Given the description of an element on the screen output the (x, y) to click on. 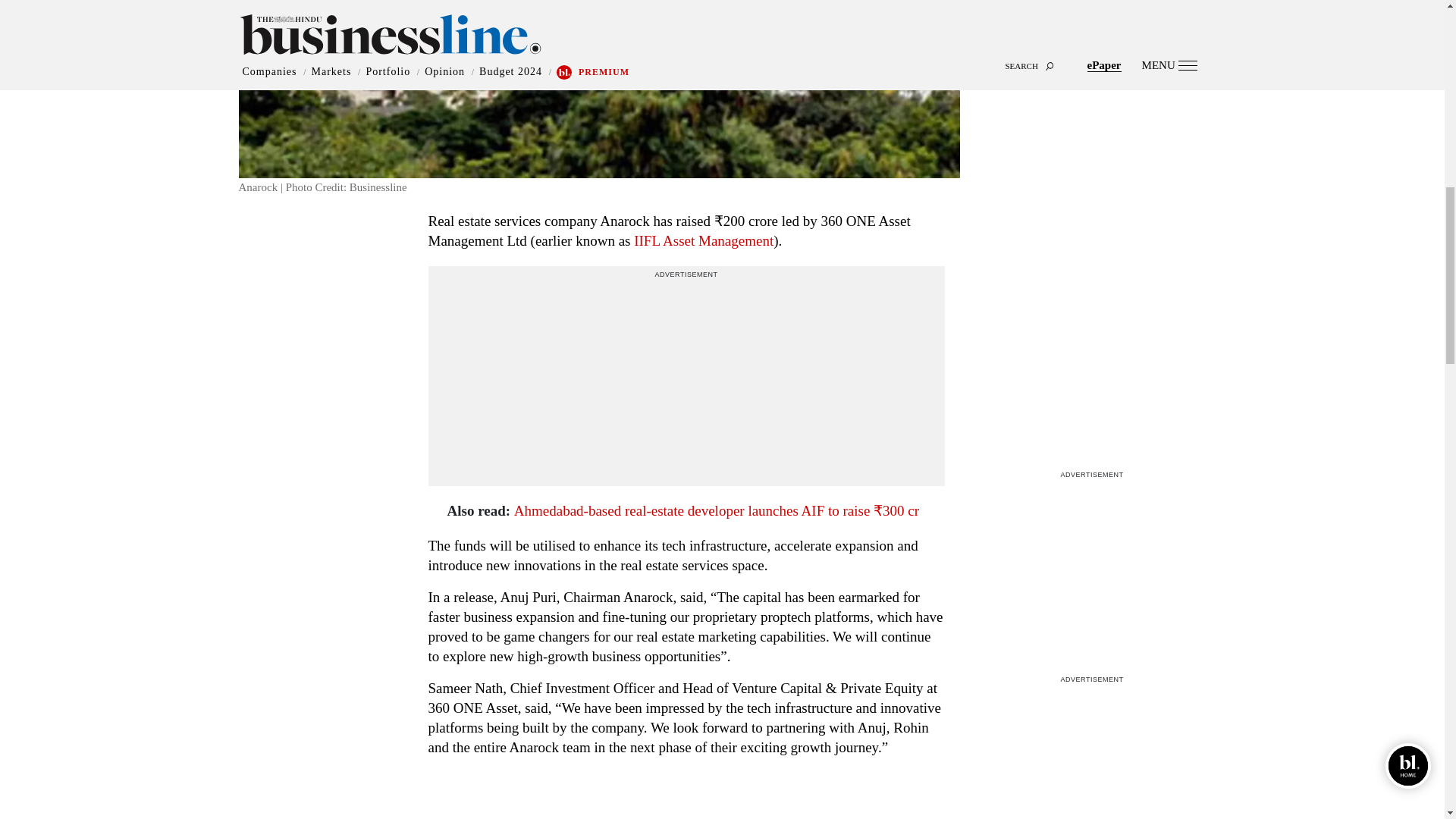
Anarock (598, 89)
